Given the description of an element on the screen output the (x, y) to click on. 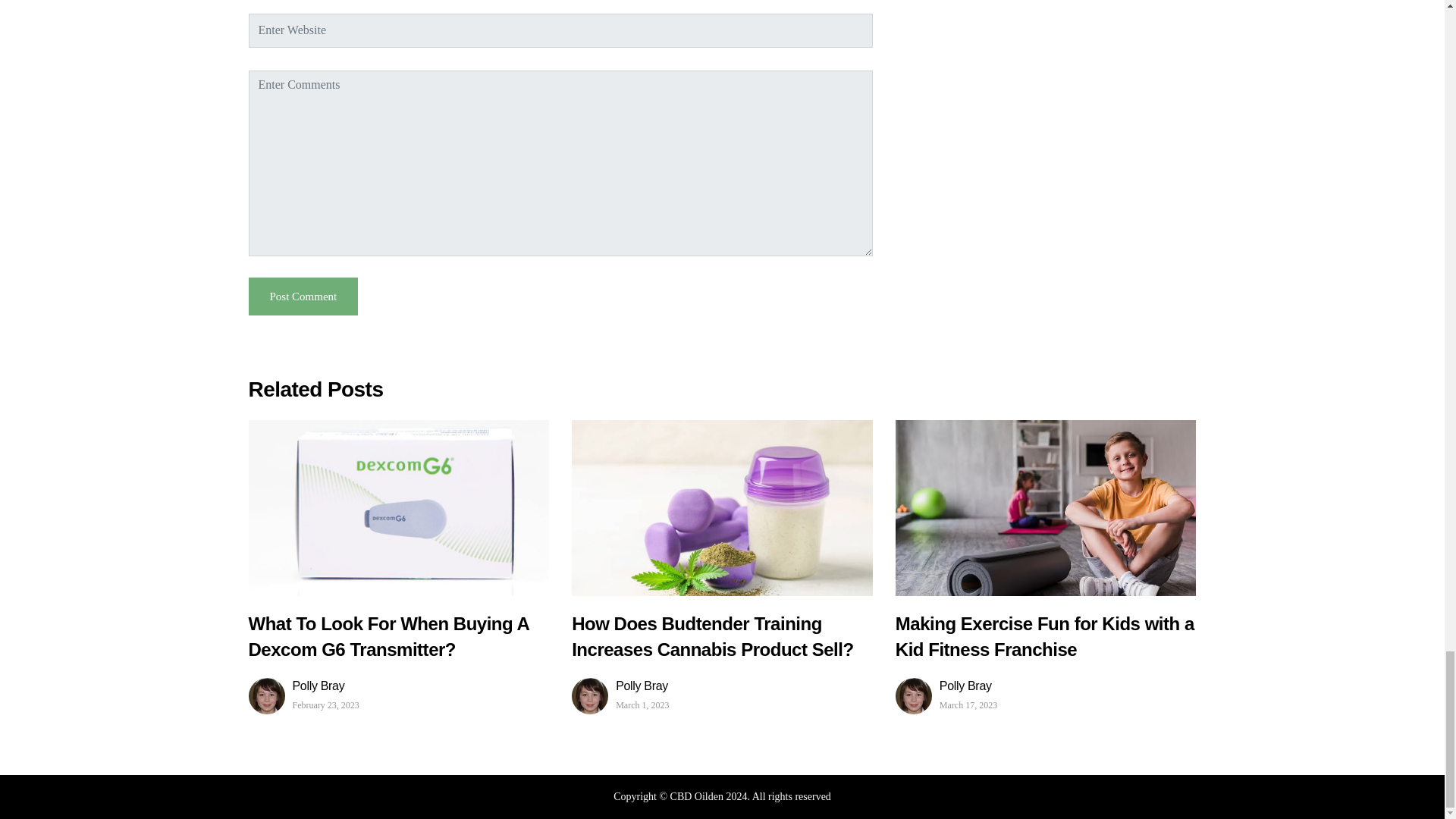
Post Comment (303, 296)
Post Comment (303, 296)
